Given the description of an element on the screen output the (x, y) to click on. 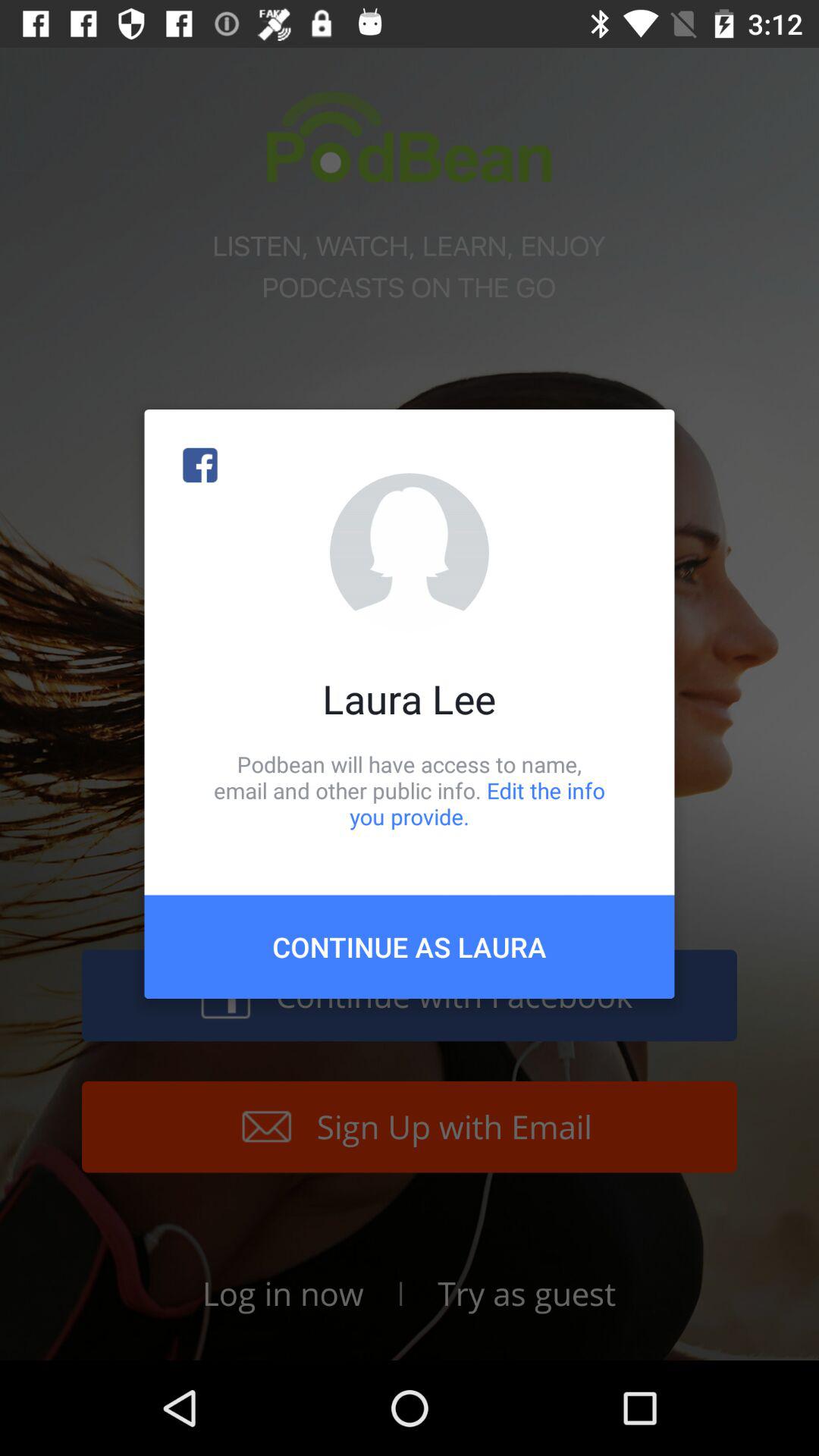
launch item below laura lee icon (409, 790)
